Given the description of an element on the screen output the (x, y) to click on. 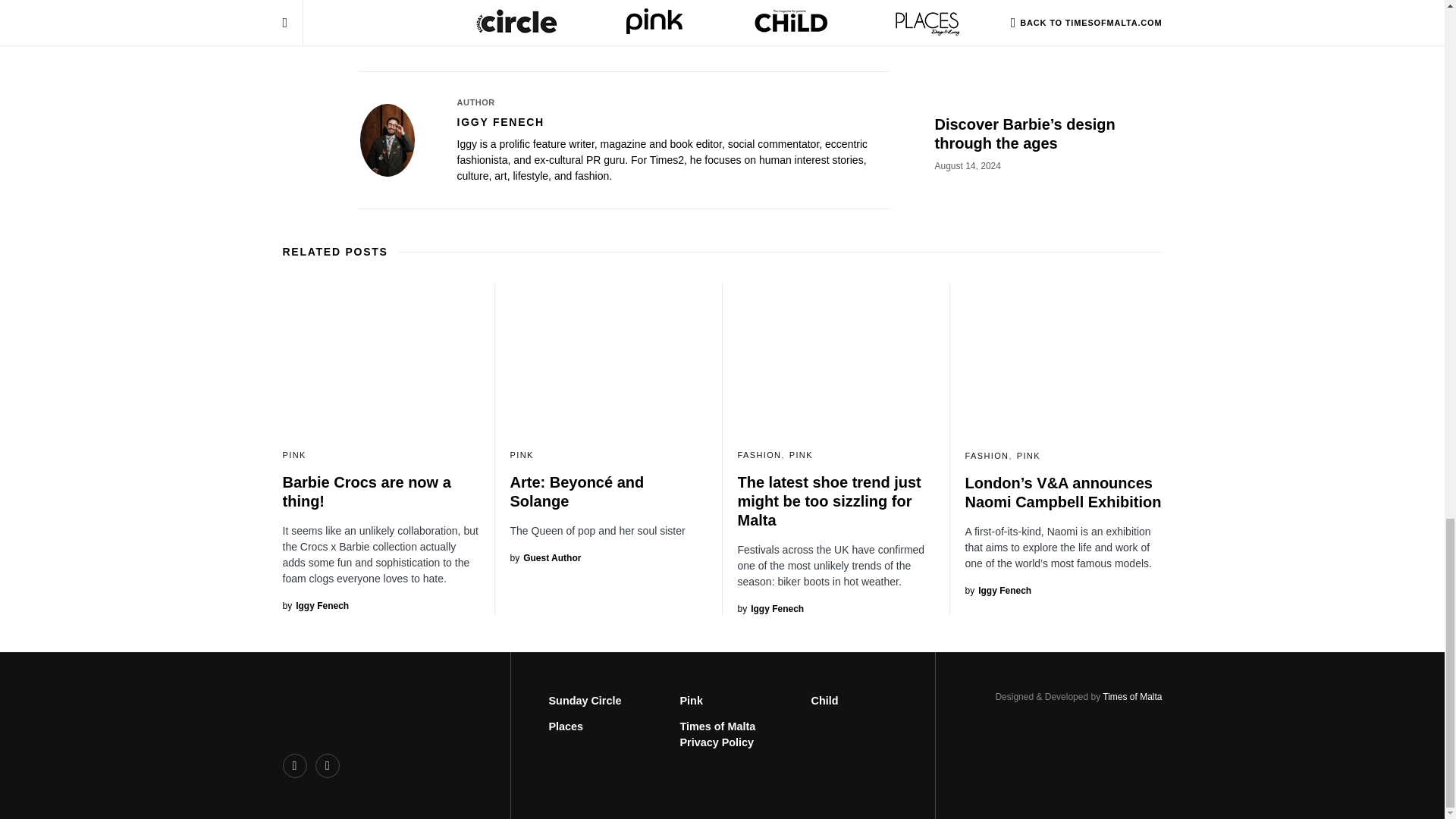
View all posts by Iggy Fenech (315, 605)
View all posts by Iggy Fenech (996, 590)
View all posts by Guest Author (544, 558)
View all posts by Iggy Fenech (769, 608)
